Given the description of an element on the screen output the (x, y) to click on. 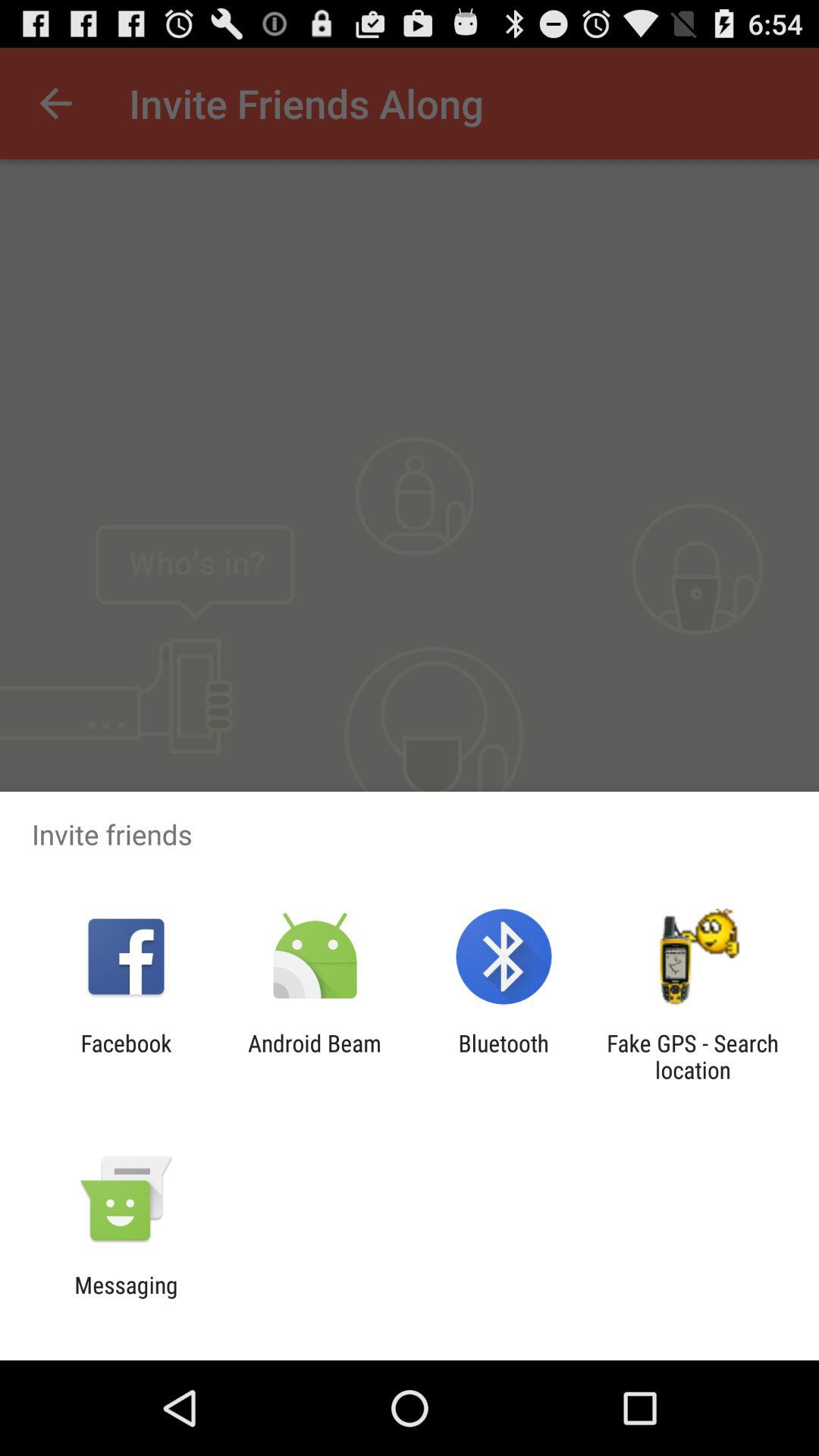
choose the bluetooth item (503, 1056)
